Given the description of an element on the screen output the (x, y) to click on. 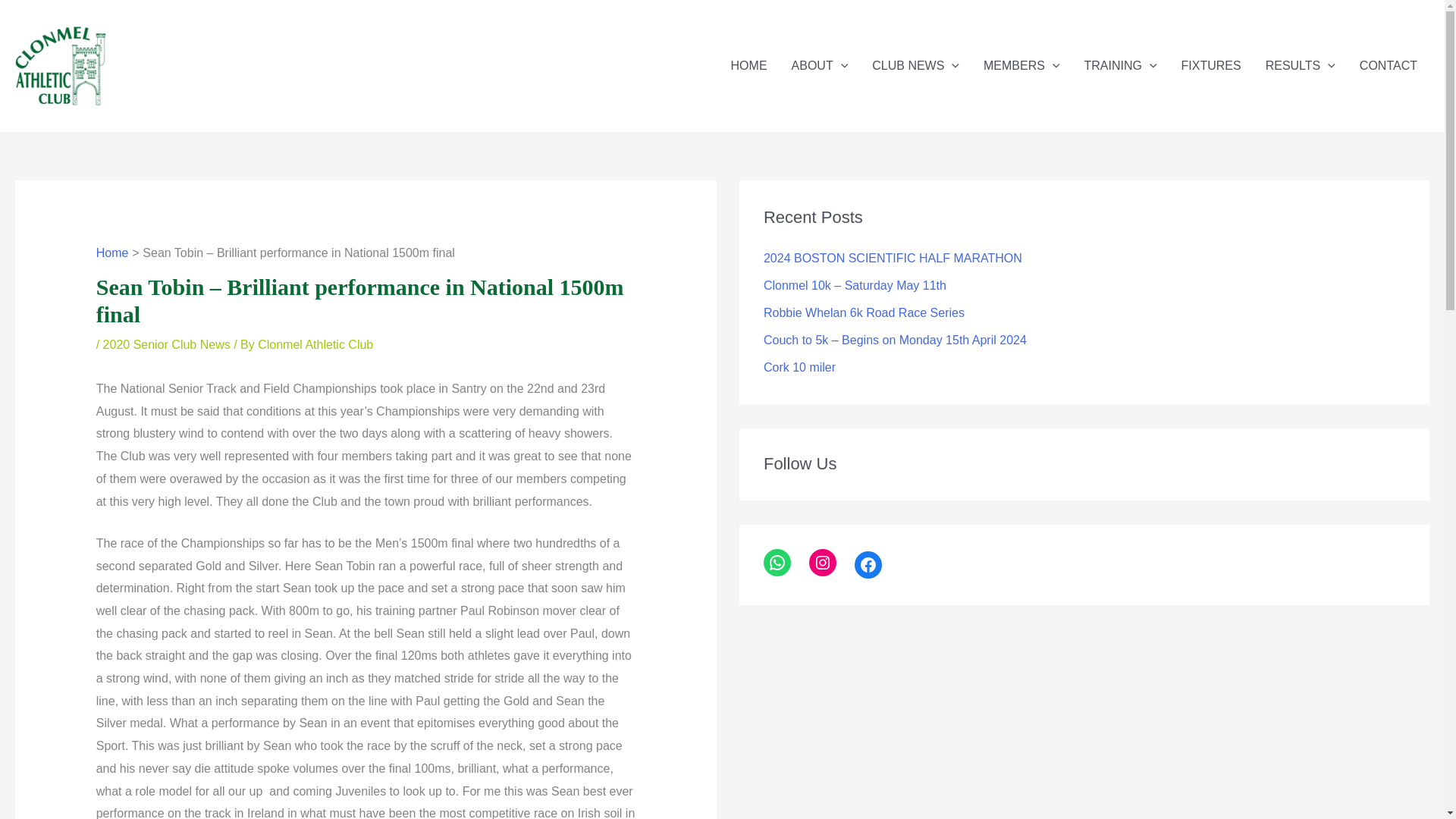
CONTACT (1388, 65)
HOME (748, 65)
ABOUT (819, 65)
CLUB NEWS (915, 65)
RESULTS (1300, 65)
TRAINING (1120, 65)
FIXTURES (1211, 65)
View all posts by Clonmel Athletic Club (314, 344)
MEMBERS (1021, 65)
